Given the description of an element on the screen output the (x, y) to click on. 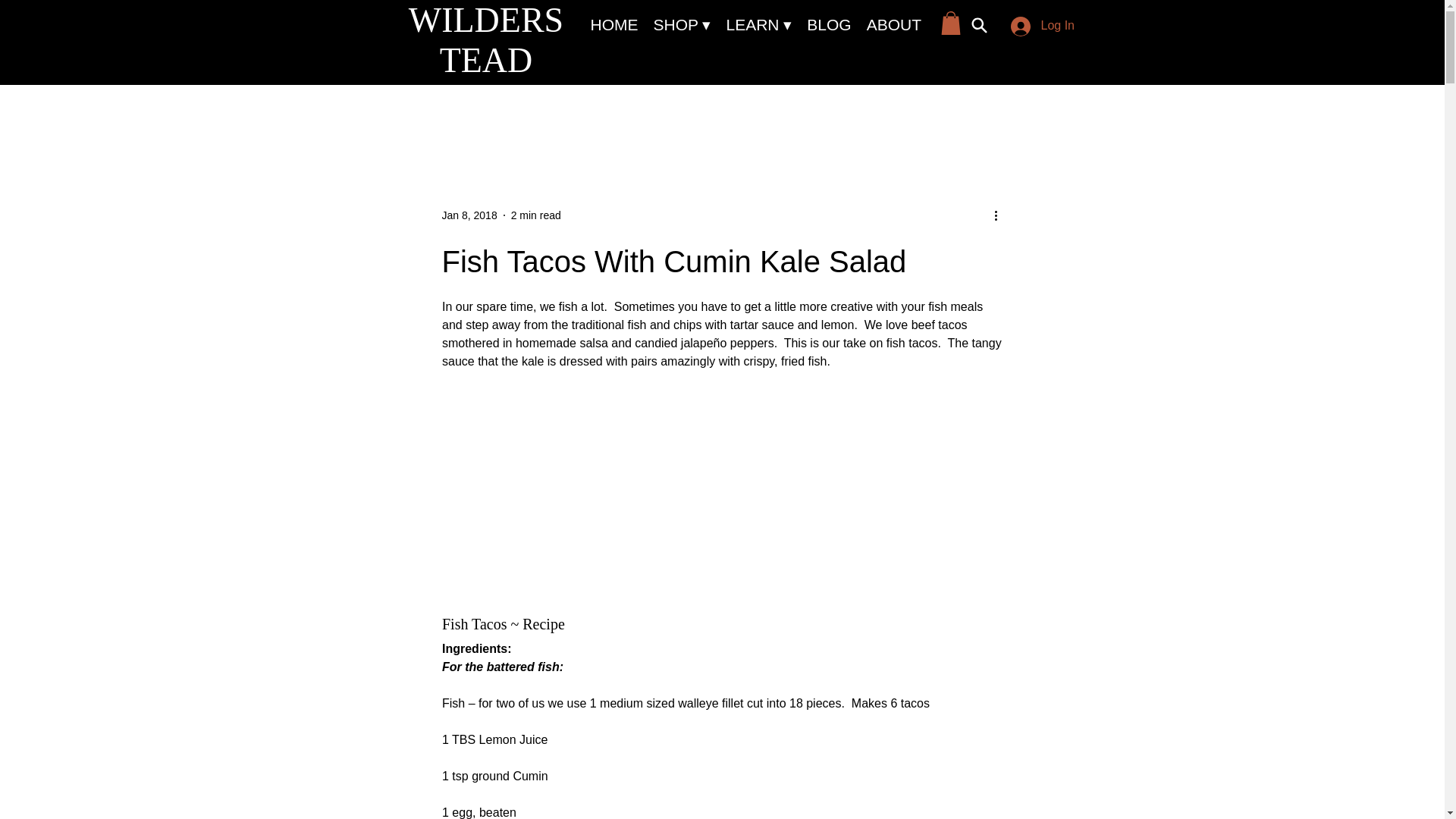
2 min read (535, 215)
Log In (1036, 26)
HOME (613, 24)
ABOUT (893, 24)
BLOG (829, 24)
WILDERSTEAD (486, 39)
Jan 8, 2018 (468, 215)
CONTACT (974, 24)
